Given the description of an element on the screen output the (x, y) to click on. 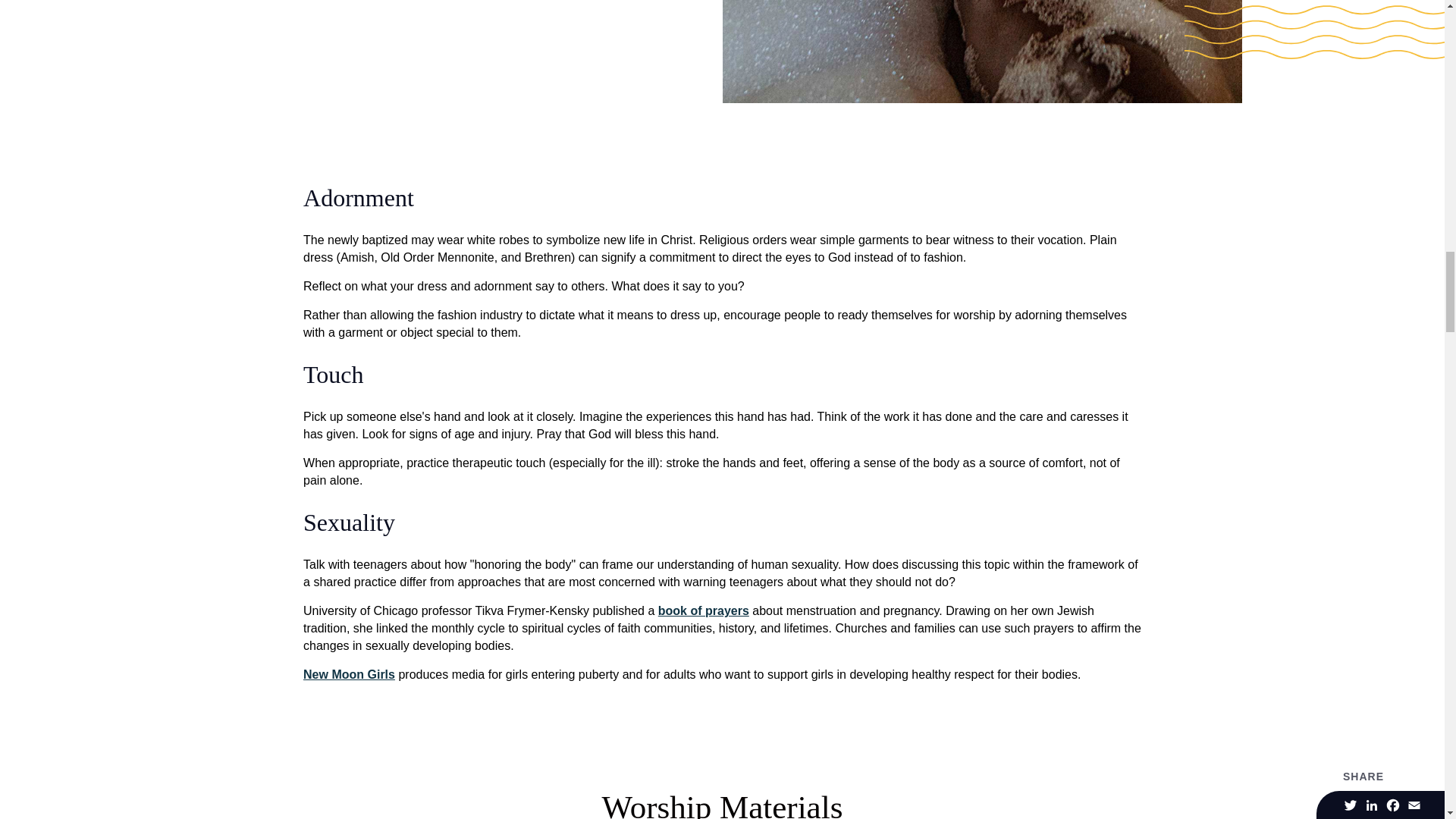
bathtub-m (981, 51)
